Given the description of an element on the screen output the (x, y) to click on. 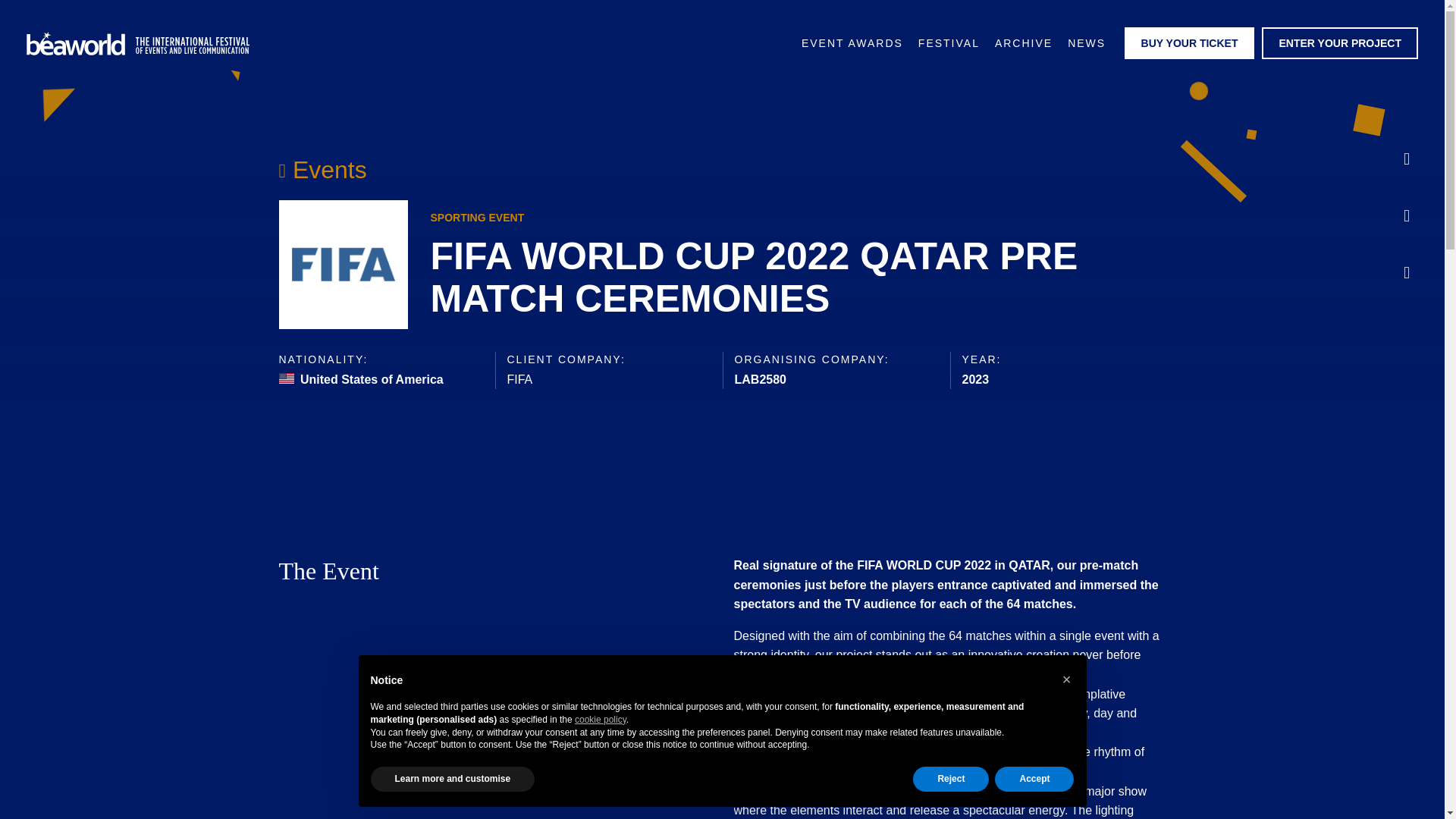
BUY YOUR TICKET (1189, 42)
FESTIVAL (949, 43)
NEWS (1086, 43)
United States of America (361, 379)
EVENT AWARDS (852, 43)
LAB2580 (759, 379)
ENTER YOUR PROJECT (1340, 42)
Events (322, 169)
SPORTING EVENT (477, 217)
2023 (974, 379)
ARCHIVE (1023, 43)
